Given the description of an element on the screen output the (x, y) to click on. 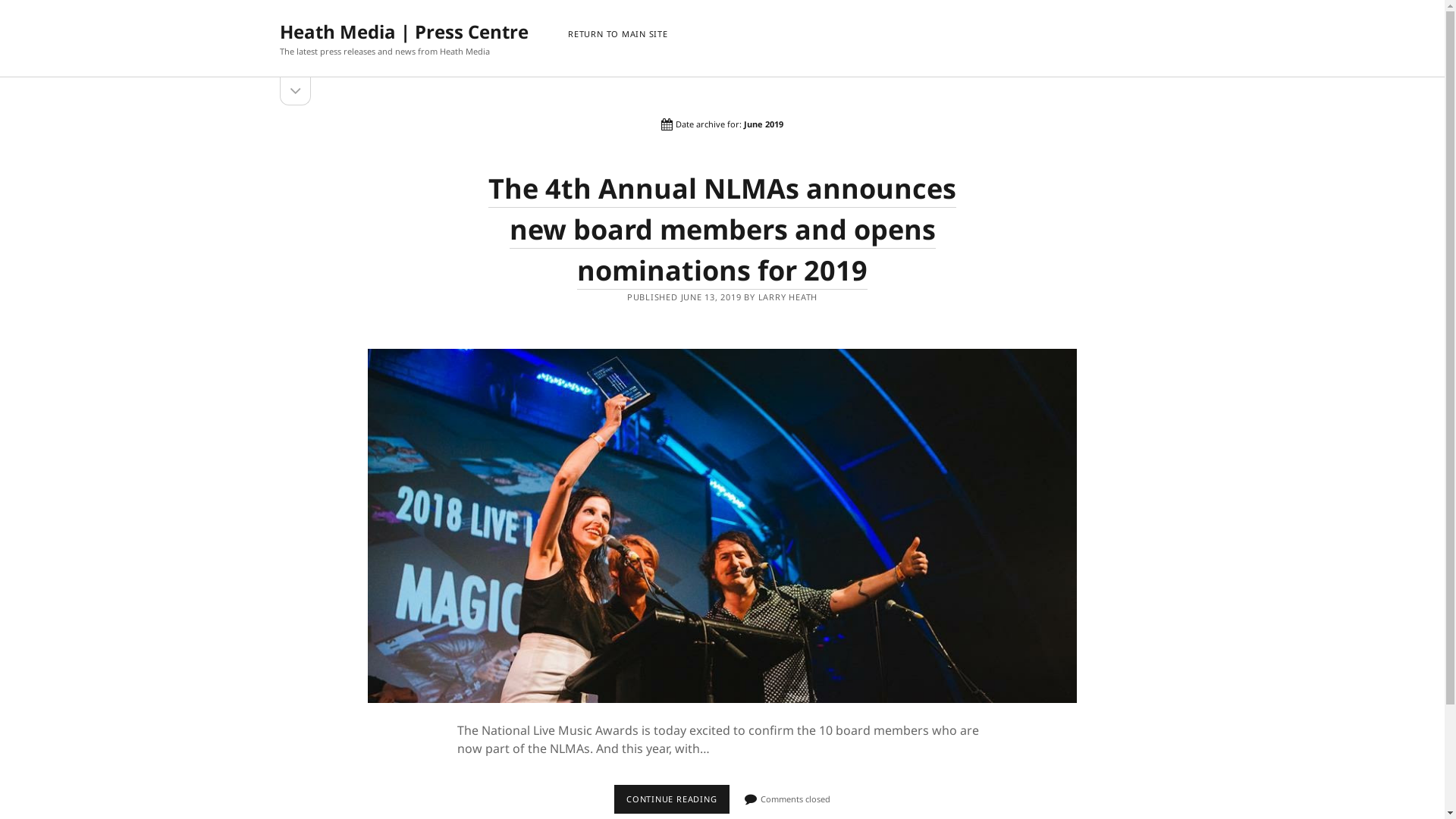
Heath Media | Press Centre Element type: text (403, 30)
comment icon Element type: hover (750, 799)
RETURN TO MAIN SITE Element type: text (617, 34)
sidebar icon Element type: hover (295, 90)
calendar icon Element type: hover (666, 125)
open sidebar Element type: text (294, 91)
